Given the description of an element on the screen output the (x, y) to click on. 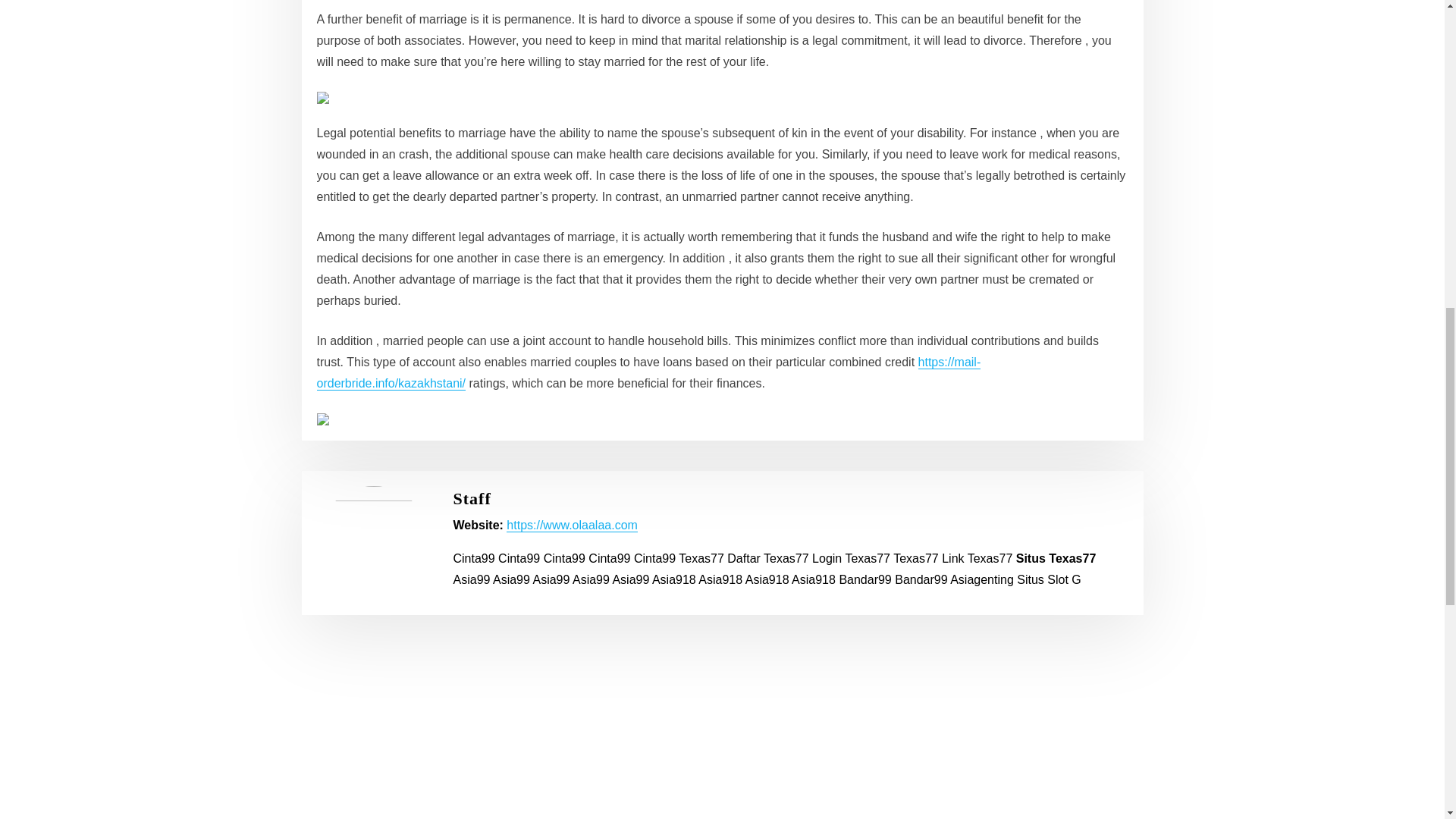
Asia918 (673, 579)
Login Texas77 (850, 558)
Texas77 (700, 558)
Cinta99 (654, 558)
Staff (472, 497)
Link Texas77 (976, 558)
Asia99 (591, 579)
Asia918 (767, 579)
Asia99 (471, 579)
Daftar Texas77 (767, 558)
Asia99 (550, 579)
Asia99 (511, 579)
Situs Texas77 (1056, 558)
Cinta99 (518, 558)
Cinta99 (473, 558)
